Given the description of an element on the screen output the (x, y) to click on. 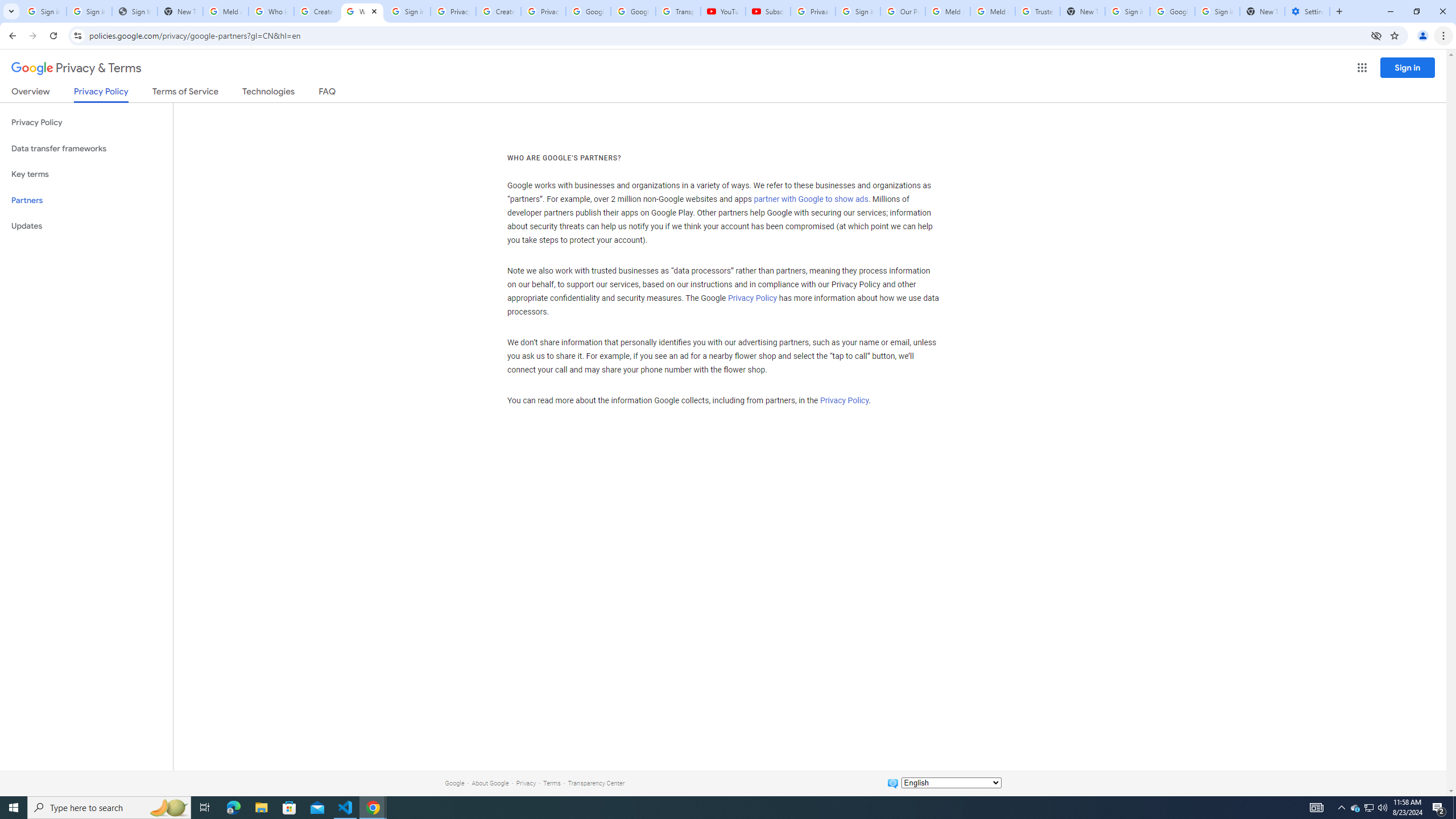
Data transfer frameworks (86, 148)
Create your Google Account (316, 11)
Sign in - Google Accounts (88, 11)
YouTube (723, 11)
Transparency Center (595, 783)
Key terms (86, 174)
Sign in - Google Accounts (43, 11)
